Given the description of an element on the screen output the (x, y) to click on. 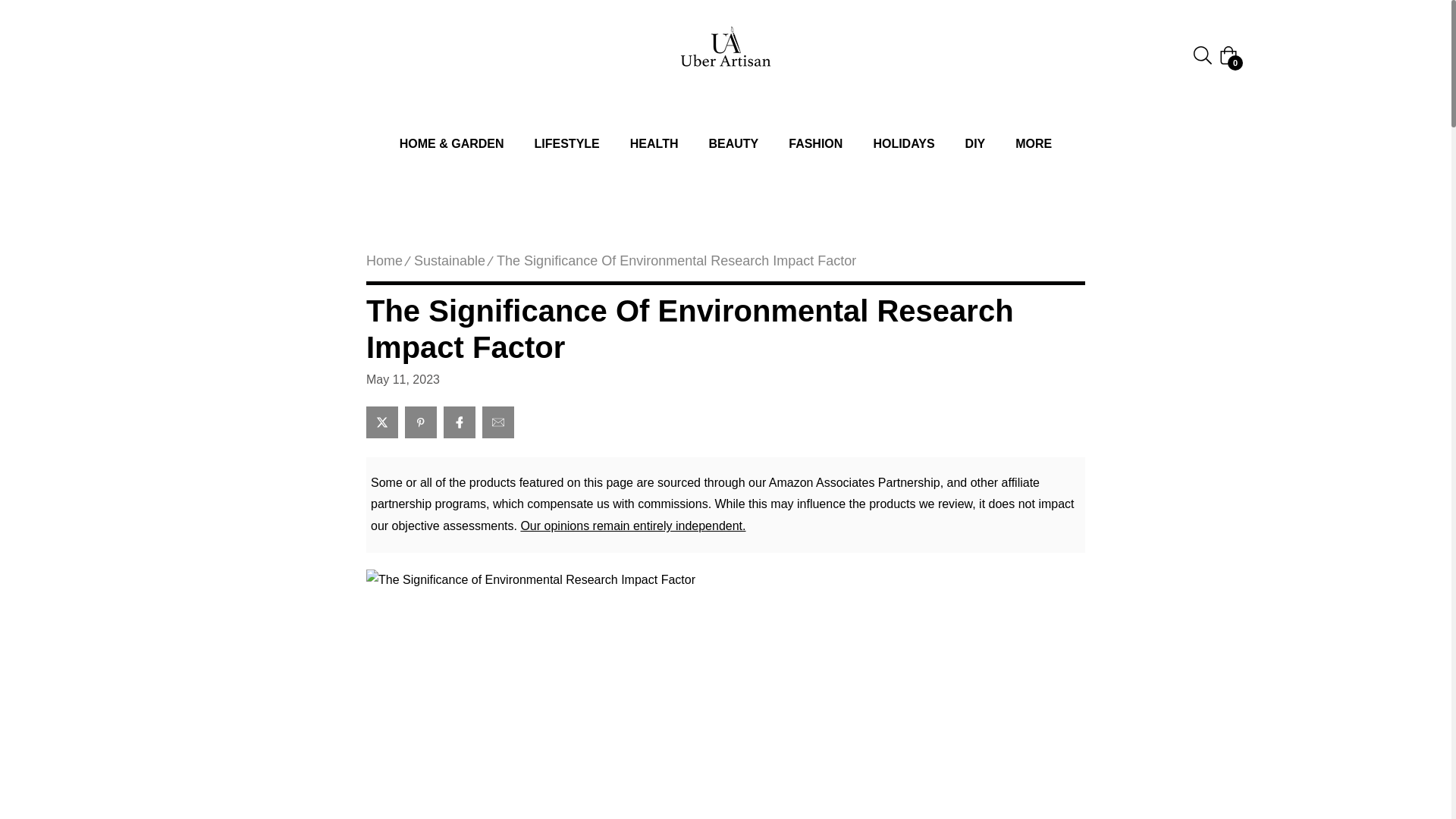
FASHION (815, 144)
Home (384, 260)
HEALTH (654, 144)
Sustainable (448, 260)
HOLIDAYS (903, 144)
Shopping Cart (1228, 54)
The Significance Of Environmental Research Impact Factor (676, 260)
LIFESTYLE (566, 144)
The Significance of Environmental Research Impact Factor (725, 328)
BEAUTY (733, 144)
